Given the description of an element on the screen output the (x, y) to click on. 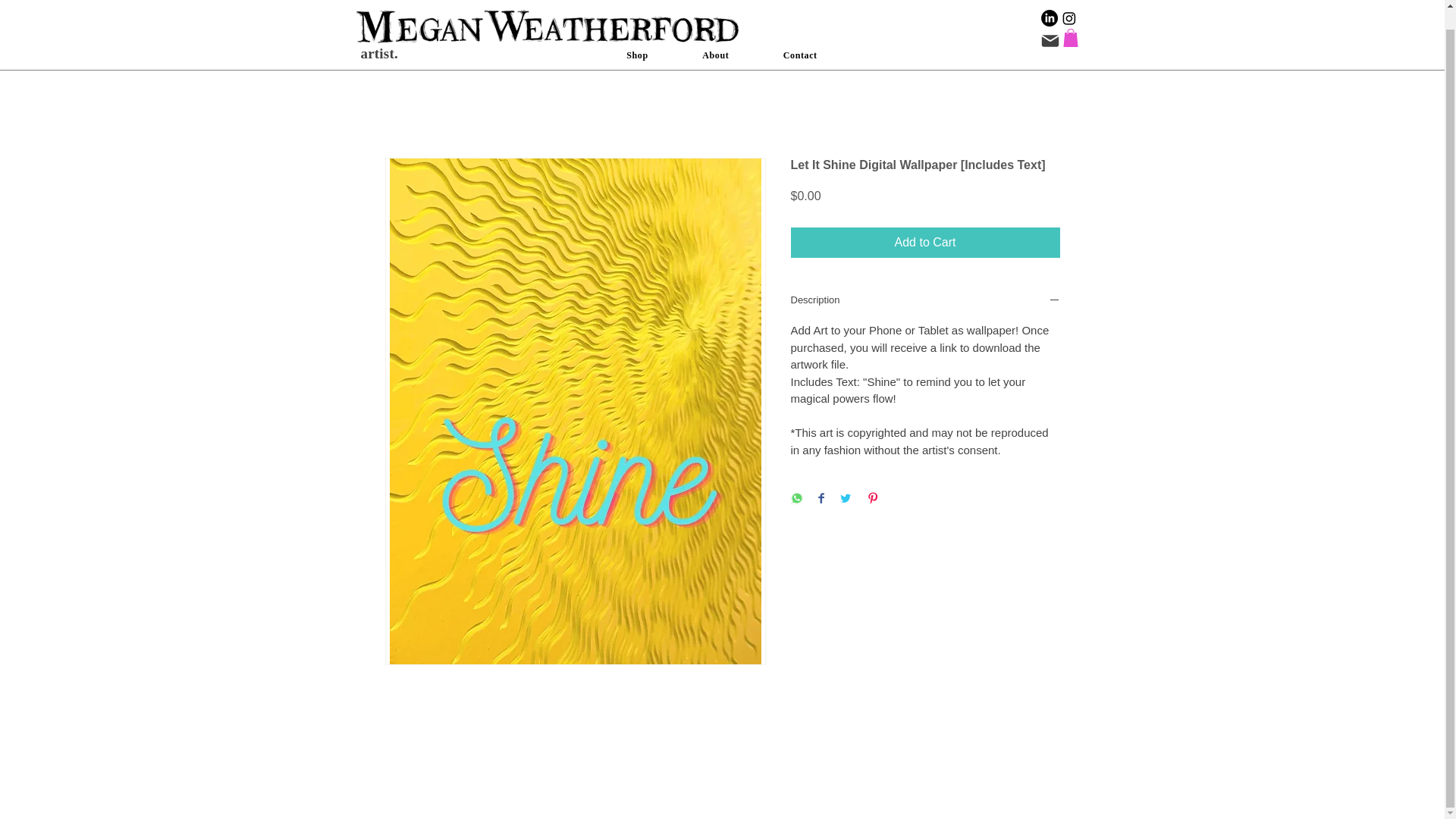
About (715, 36)
Description (924, 301)
Add to Cart (924, 242)
Contact (799, 36)
